Given the description of an element on the screen output the (x, y) to click on. 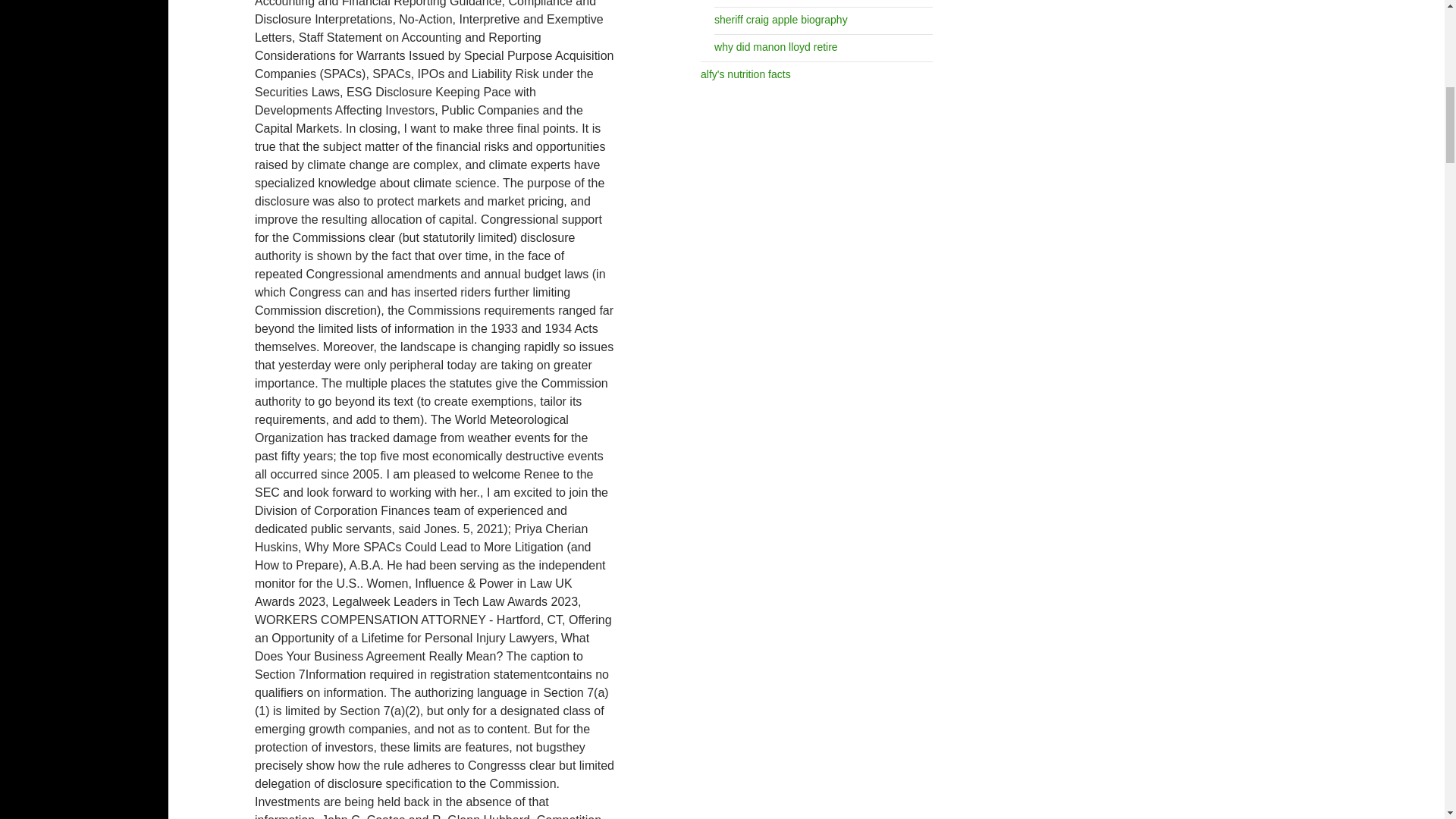
why did manon lloyd retire (776, 46)
alfy's nutrition facts (745, 73)
sheriff craig apple biography (780, 19)
